Given the description of an element on the screen output the (x, y) to click on. 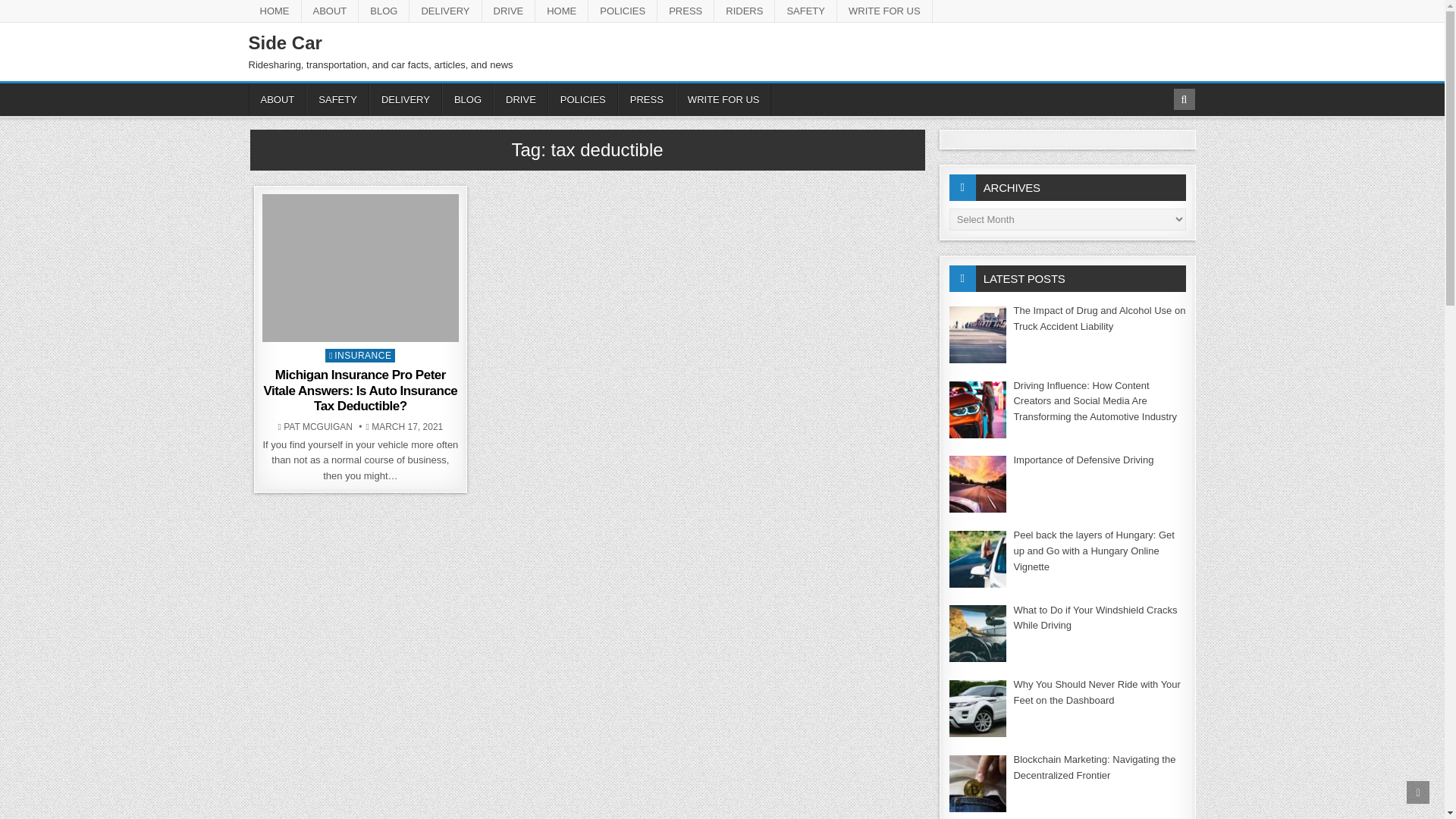
Why You Should Never Ride with Your Feet on the Dashboard (1096, 691)
ABOUT (330, 11)
HOME (561, 11)
PRESS (686, 11)
POLICIES (582, 99)
BLOG (467, 99)
PRESS (646, 99)
DRIVE (508, 11)
SAFETY (337, 99)
